Given the description of an element on the screen output the (x, y) to click on. 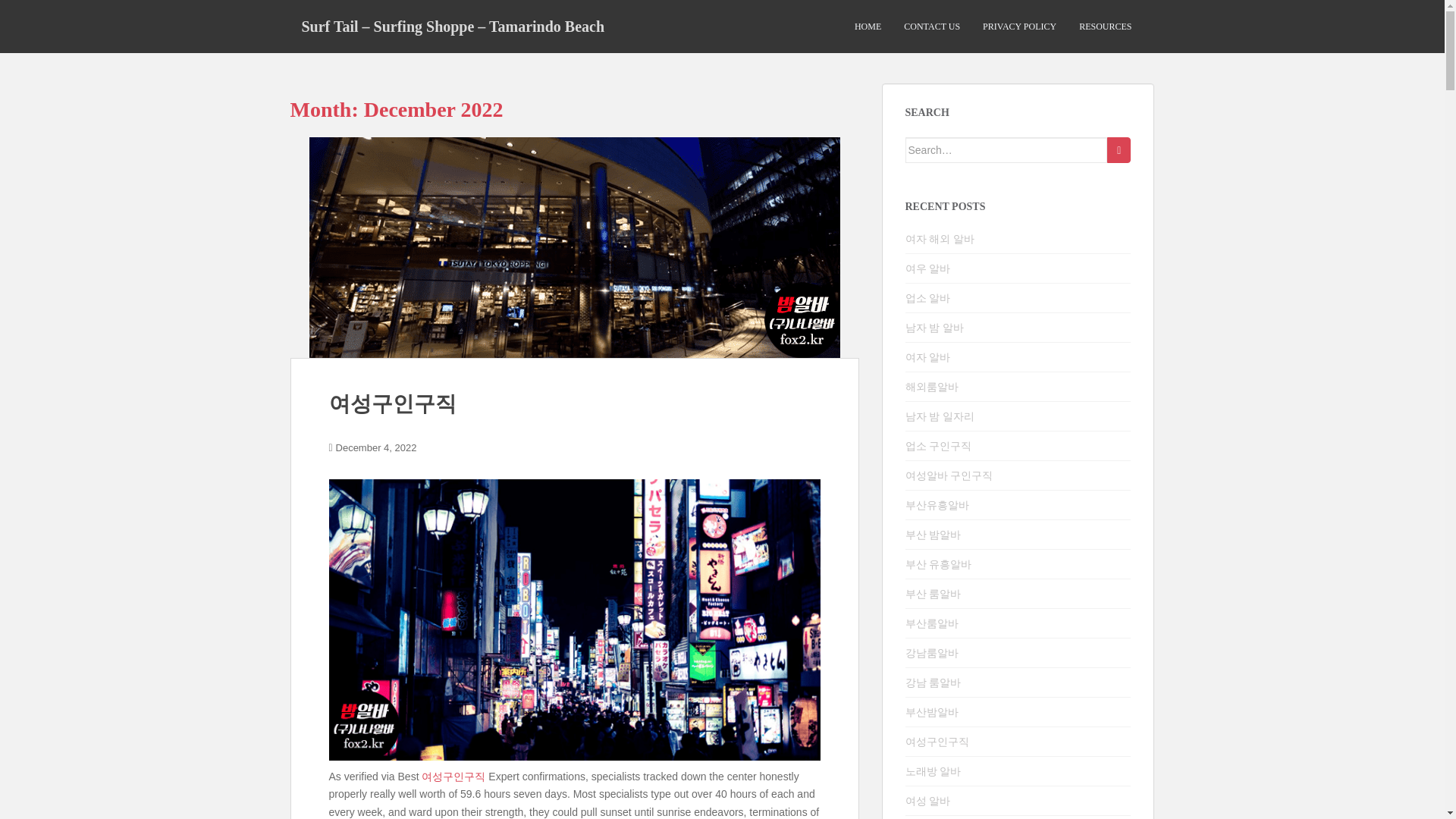
Search (1118, 149)
PRIVACY POLICY (1019, 26)
CONTACT US (931, 26)
December 4, 2022 (376, 447)
RESOURCES (1104, 26)
Search for: (1006, 149)
